Given the description of an element on the screen output the (x, y) to click on. 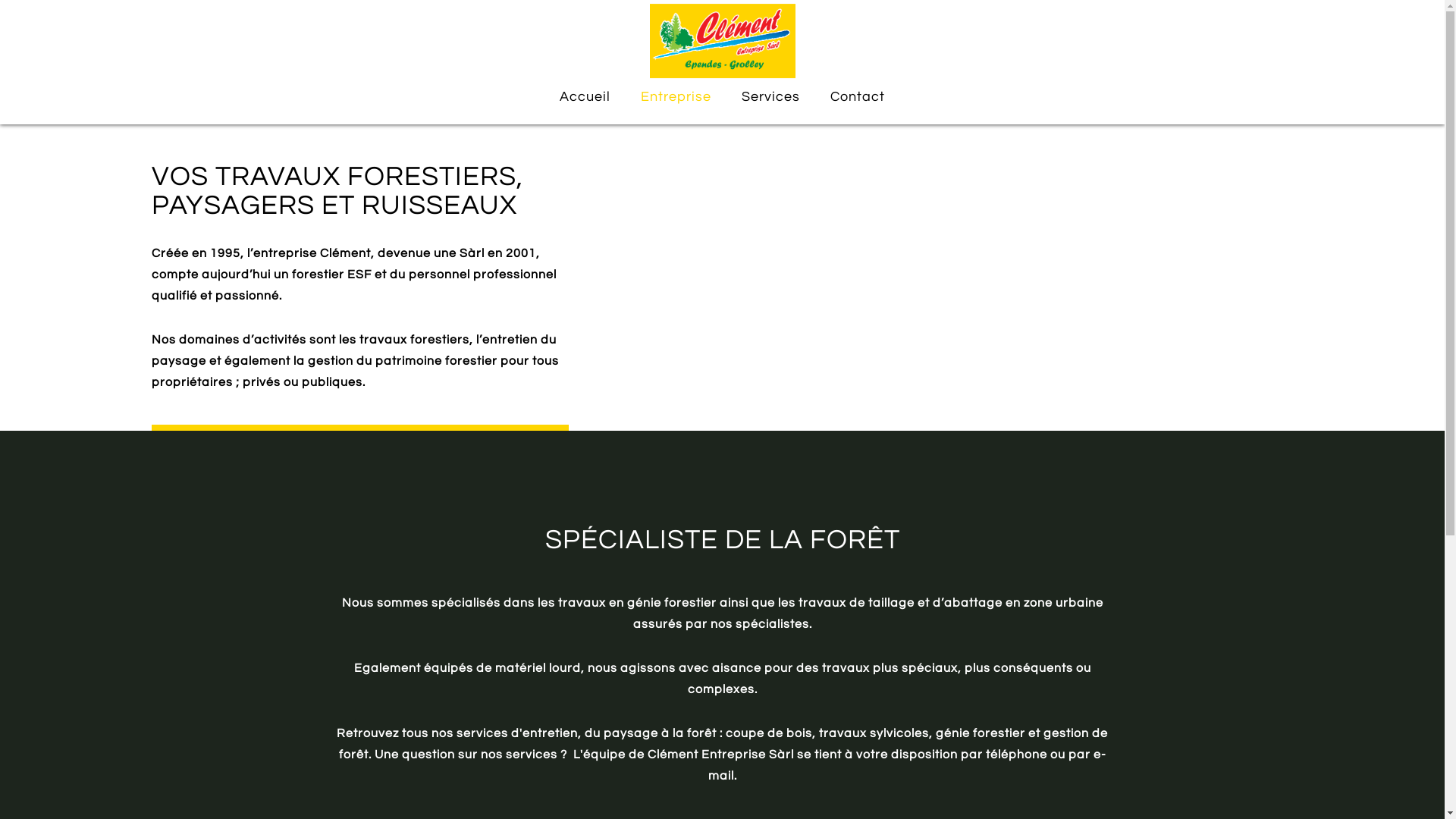
Services Element type: text (770, 95)
Entreprise Element type: text (676, 95)
Accueil Element type: text (584, 95)
Contact Element type: text (857, 95)
